Given the description of an element on the screen output the (x, y) to click on. 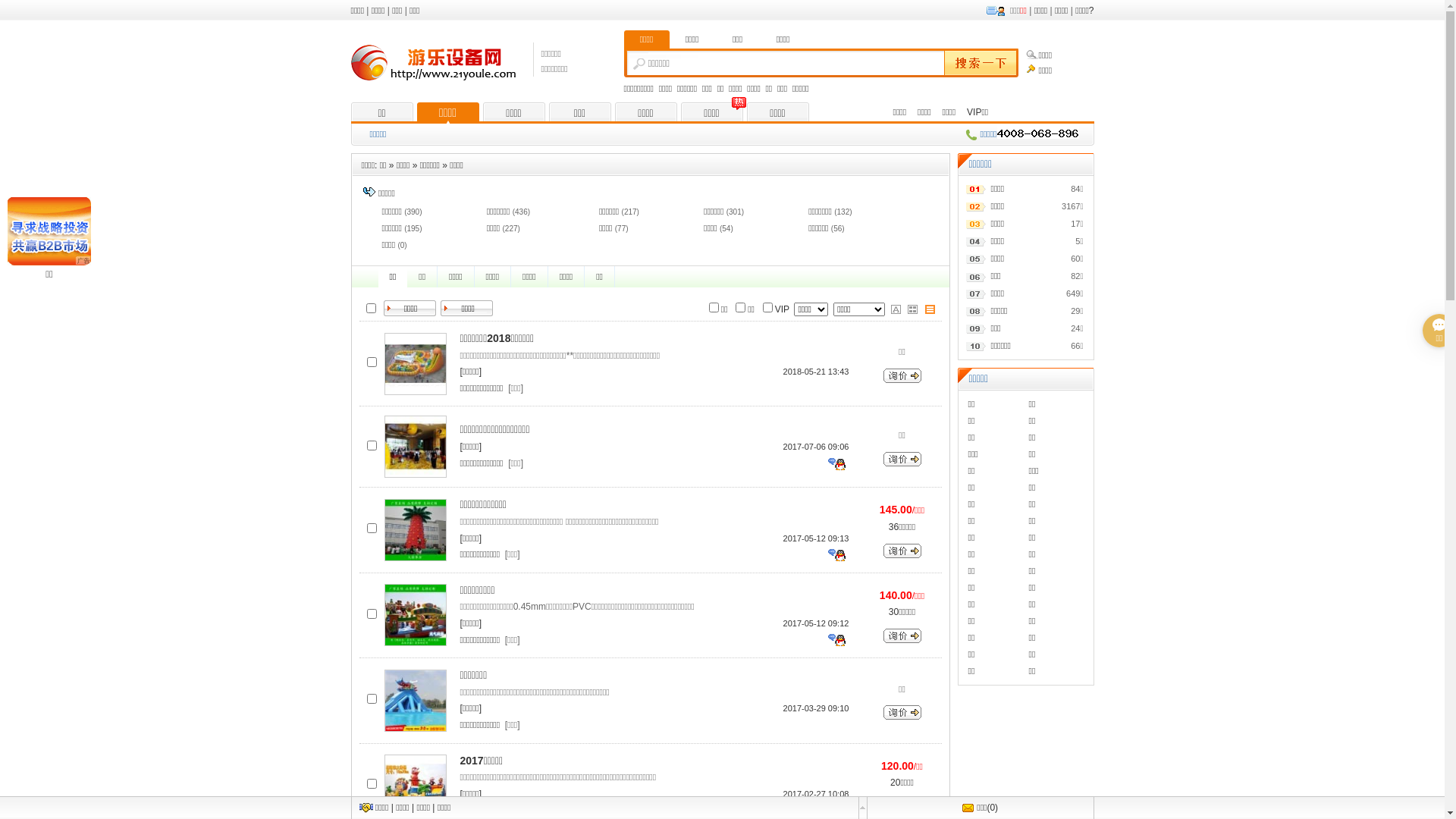
4751 Element type: text (371, 613)
on Element type: text (767, 306)
4750 Element type: text (371, 528)
on Element type: text (740, 306)
4416 Element type: text (371, 445)
  Element type: text (978, 62)
on Element type: text (371, 308)
on Element type: text (713, 306)
4603 Element type: text (371, 783)
5071 Element type: text (371, 362)
4667 Element type: text (371, 698)
